Given the description of an element on the screen output the (x, y) to click on. 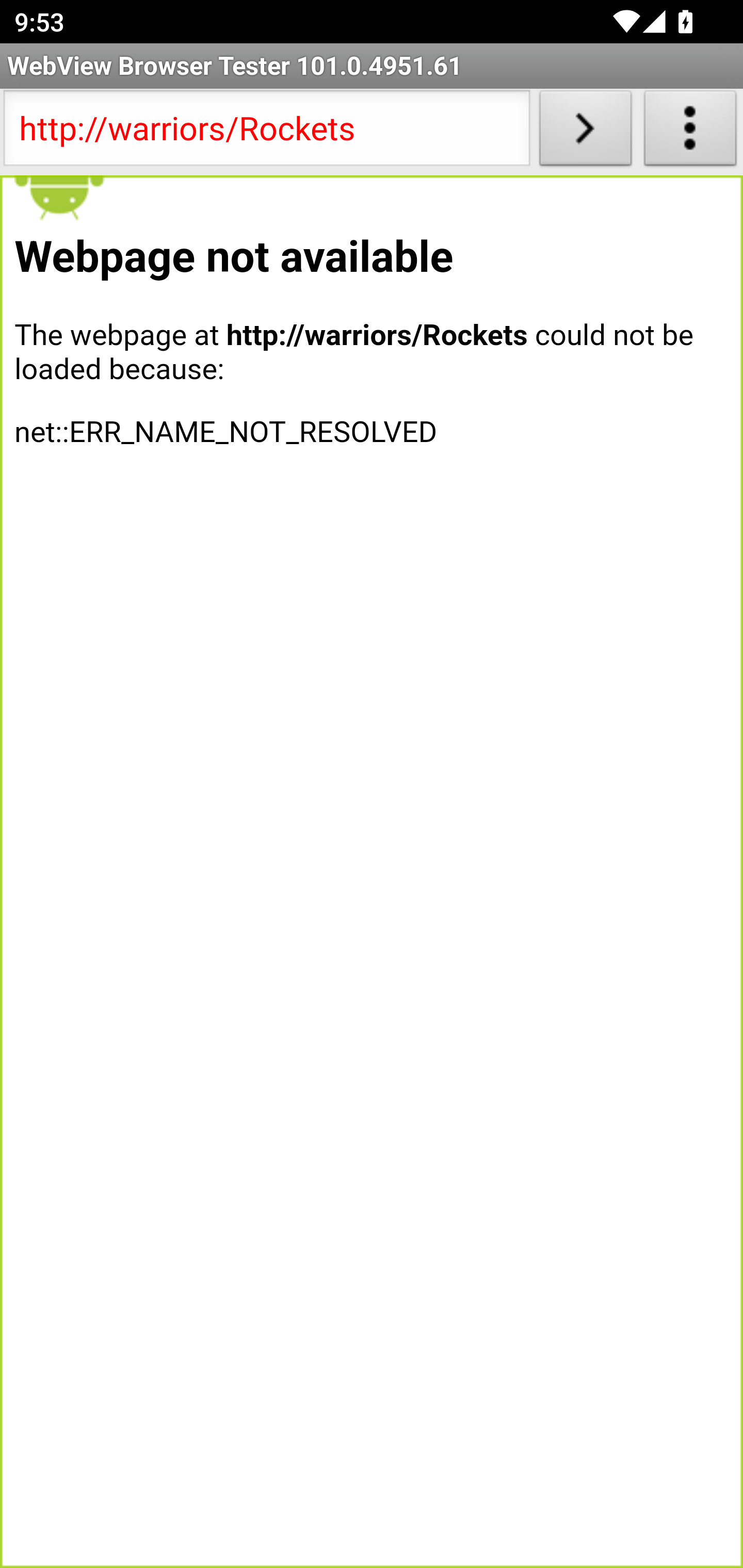
http://warriors/Rockets (266, 132)
Load URL (585, 132)
About WebView (690, 132)
